Given the description of an element on the screen output the (x, y) to click on. 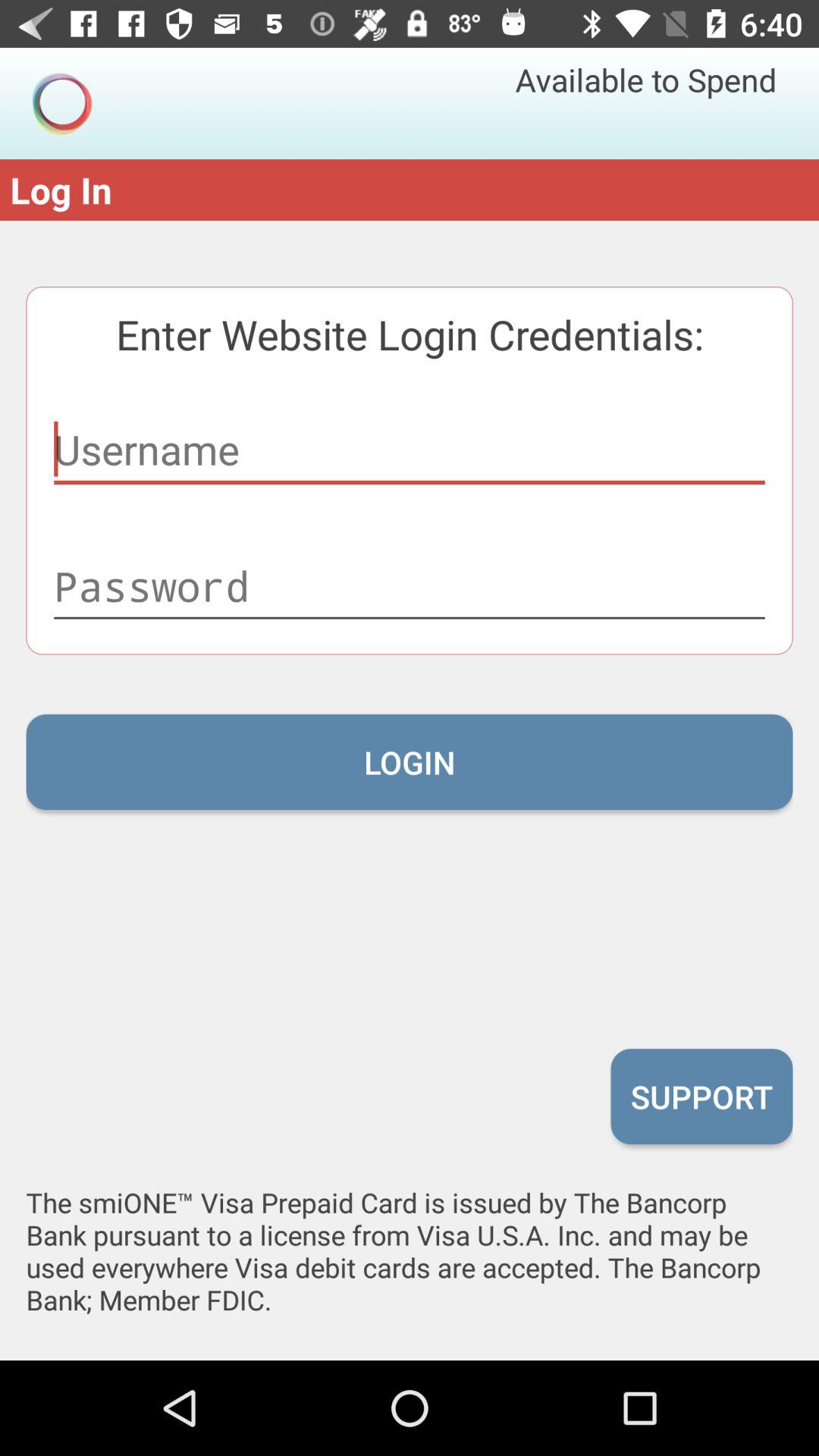
launch item above the the smione visa (701, 1096)
